Given the description of an element on the screen output the (x, y) to click on. 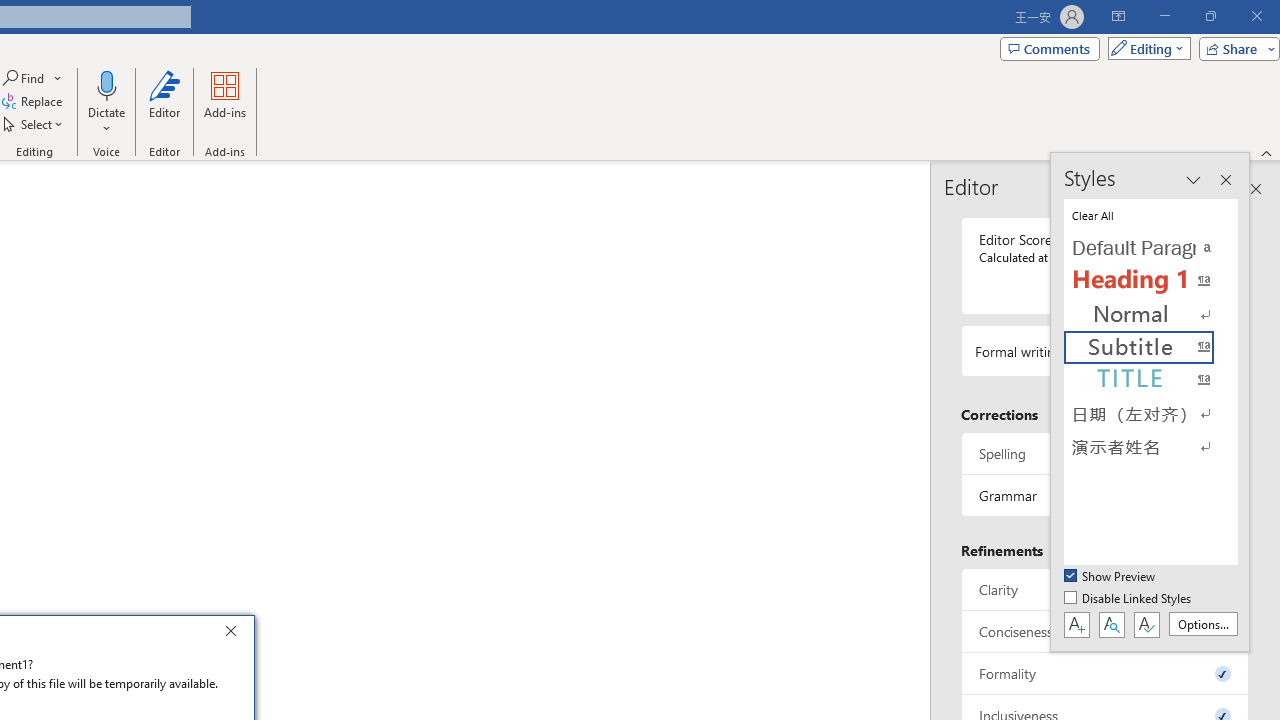
Subtitle (1150, 347)
Clarity, 0 issues. Press space or enter to review items. (1105, 588)
Clear All (1150, 214)
Title (1150, 380)
Grammar, 1 issue. Press space or enter to review items. (1105, 495)
Disable Linked Styles (1129, 599)
